Given the description of an element on the screen output the (x, y) to click on. 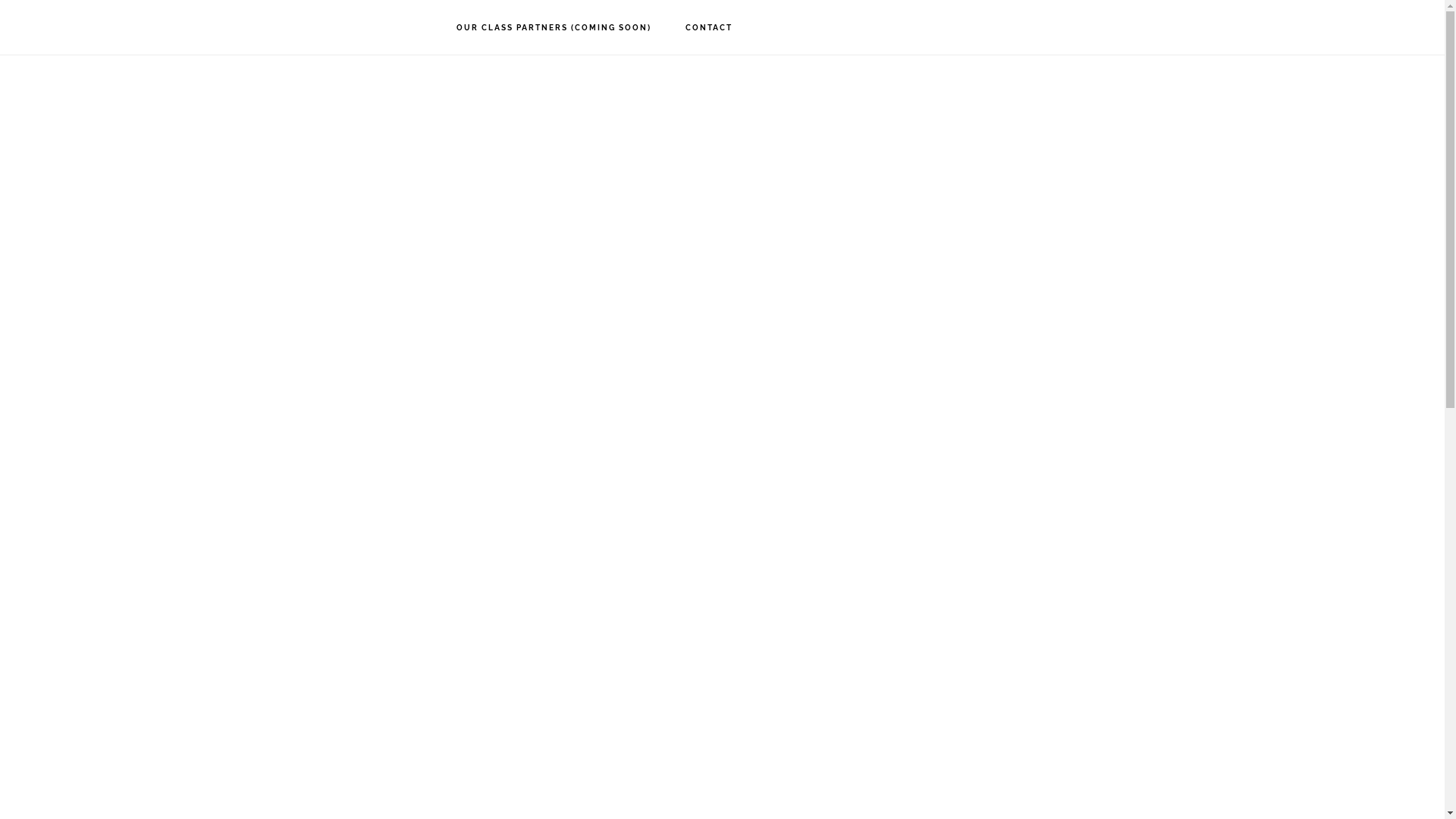
OUR CLASS PARTNERS (COMING SOON) Element type: text (553, 27)
Skip to main content Element type: text (0, 0)
FLOURISH YOGA Element type: text (98, 26)
CONTACT Element type: text (708, 27)
